Given the description of an element on the screen output the (x, y) to click on. 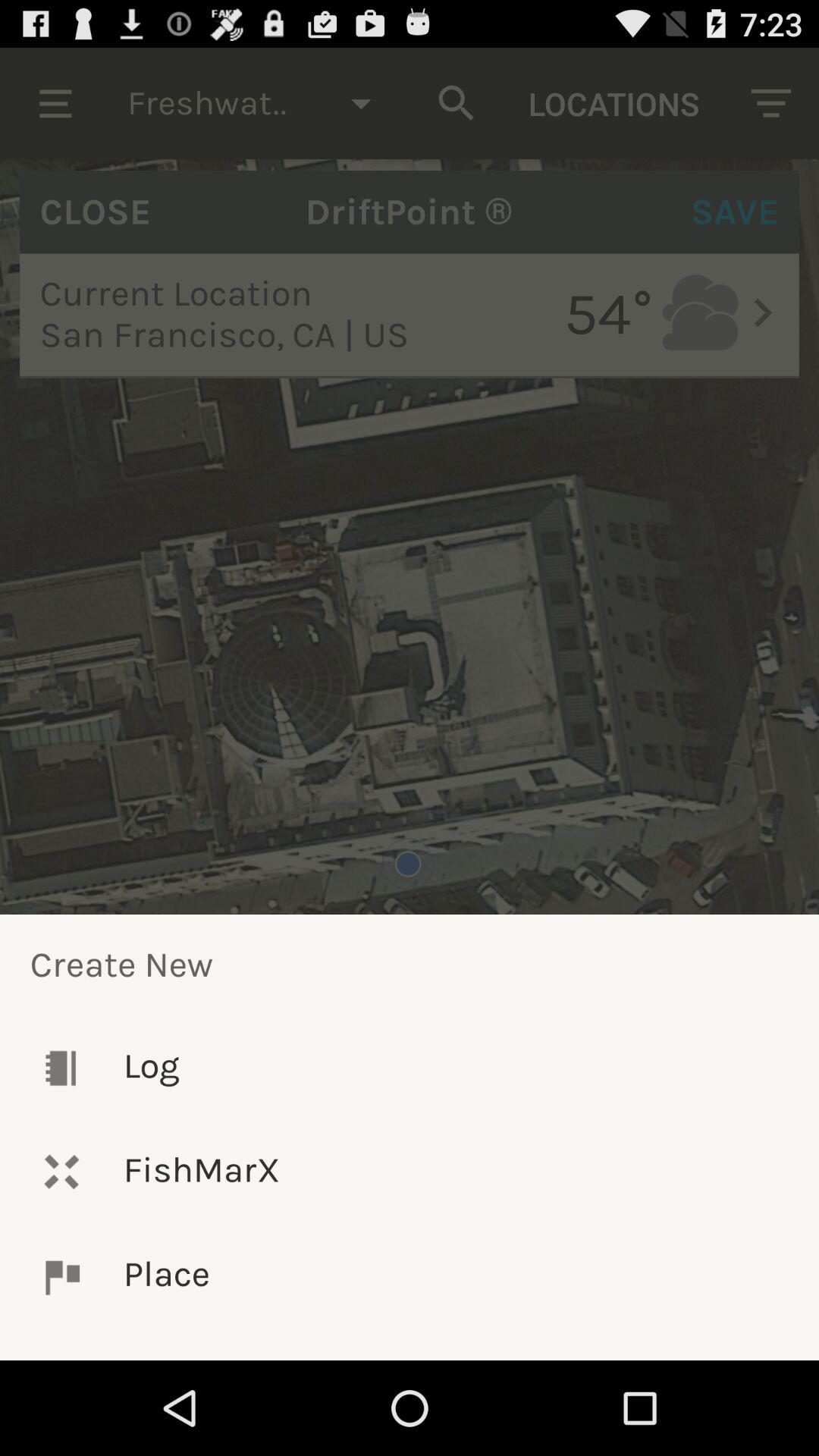
tap icon below fishmarx item (409, 1276)
